Given the description of an element on the screen output the (x, y) to click on. 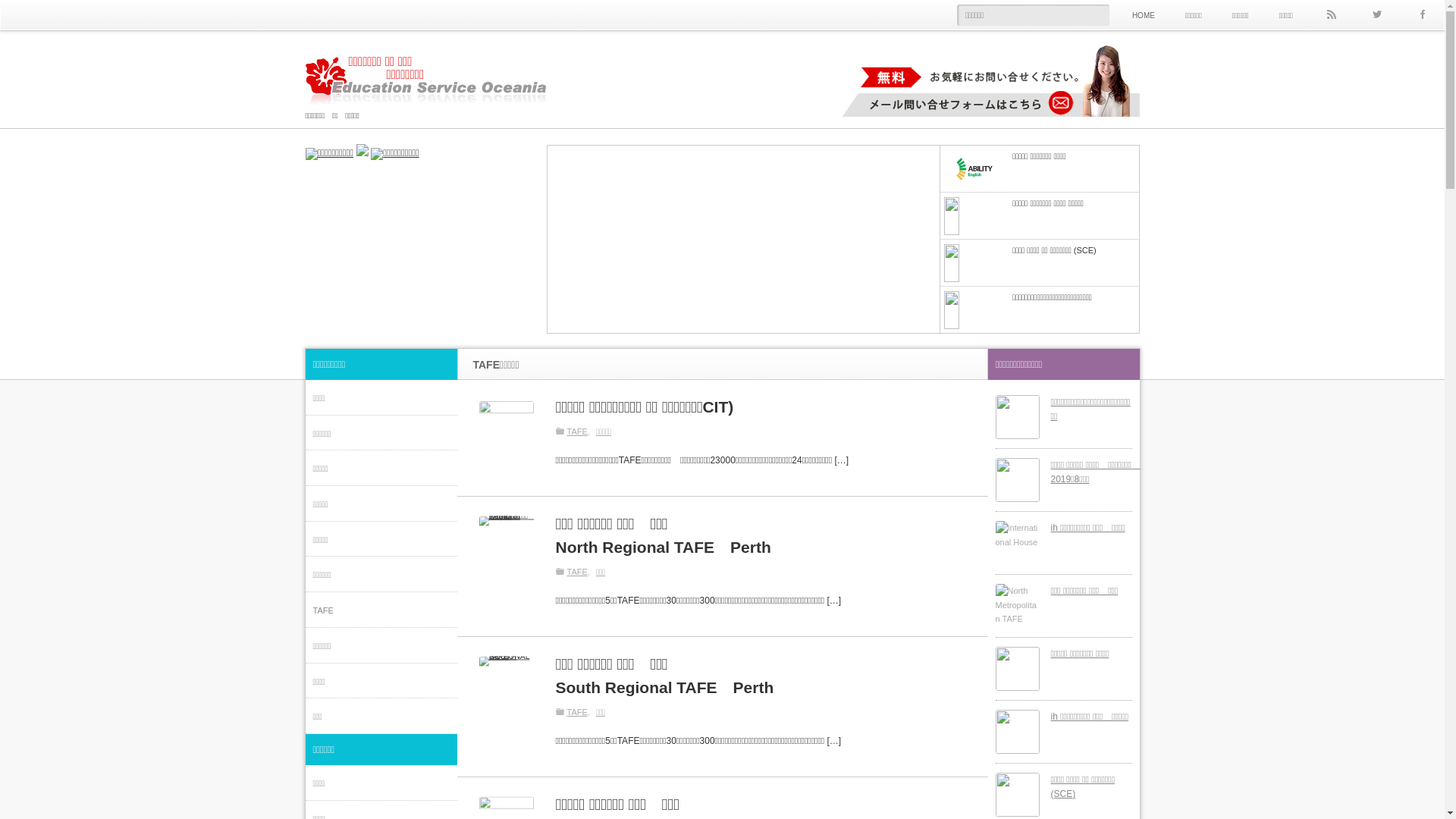
rss Element type: text (1330, 15)
TAFE Element type: text (380, 609)
TAFE Element type: text (580, 711)
TAFE Element type: text (580, 571)
HOME Element type: text (1143, 15)
TAFE Element type: text (580, 430)
Facebook Element type: text (1421, 15)
Twitter Element type: text (1376, 15)
